Given the description of an element on the screen output the (x, y) to click on. 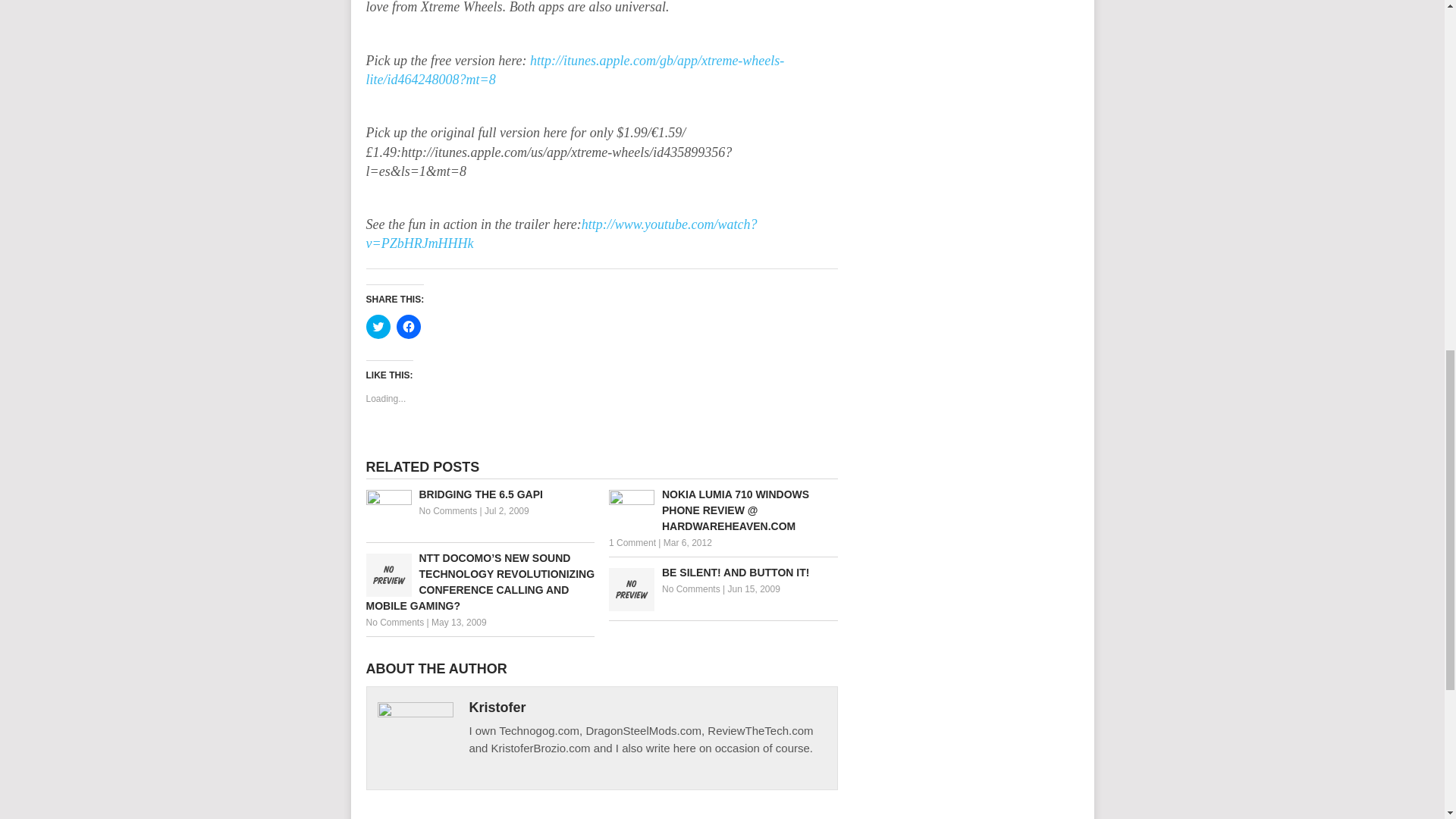
Click to share on Facebook (408, 326)
BE SILENT! AND BUTTON IT! (723, 572)
BRIDGING THE 6.5 GAPI (479, 494)
No Comments (448, 511)
Bridging The 6.5 GAPI (479, 494)
1 Comment (632, 542)
No Comments (394, 622)
No Comments (691, 588)
Click to share on Twitter (377, 326)
